Given the description of an element on the screen output the (x, y) to click on. 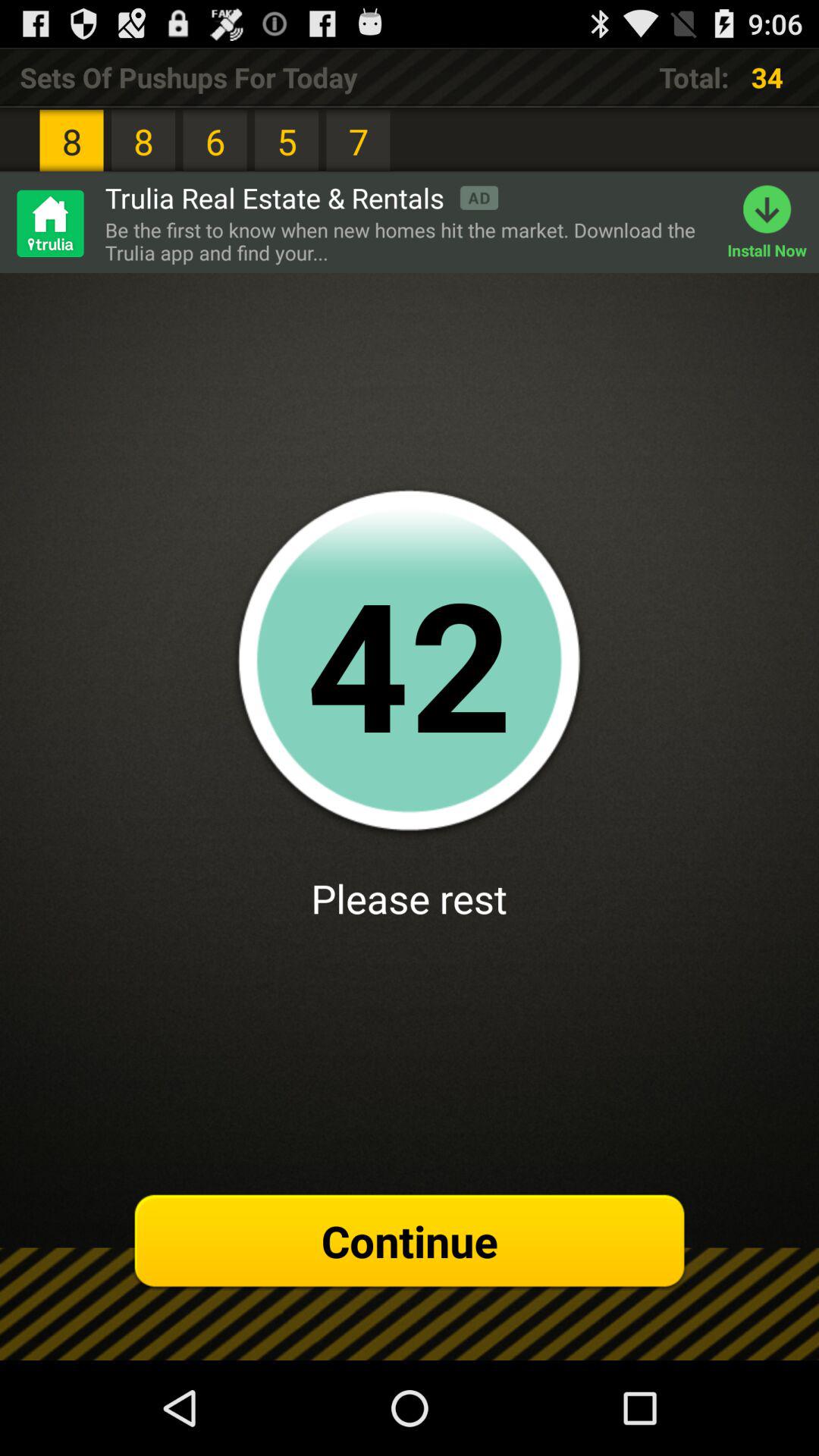
launch the app to the right of the 8 app (301, 197)
